Given the description of an element on the screen output the (x, y) to click on. 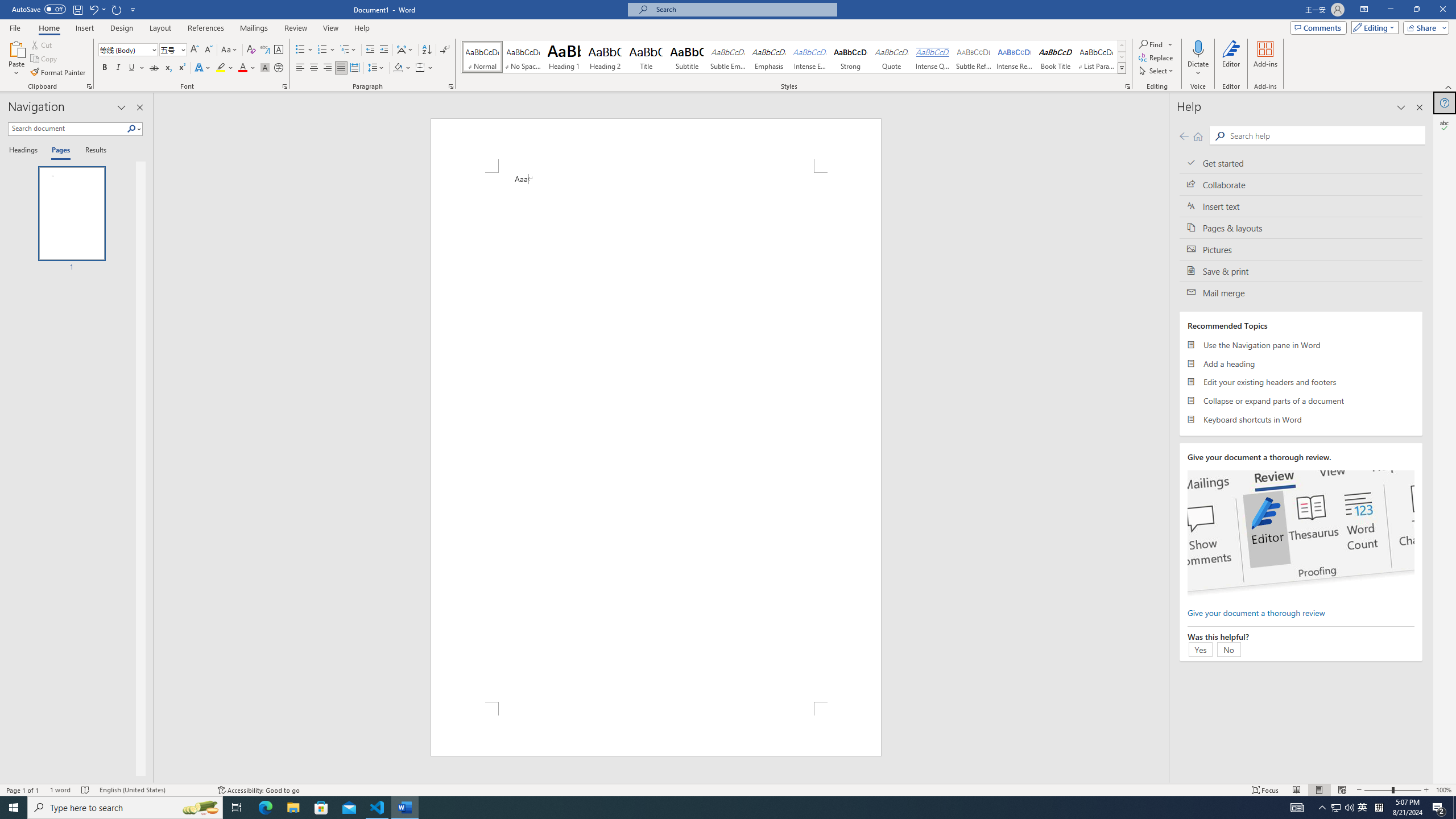
Subtle Emphasis (727, 56)
Add a heading (1300, 363)
Save & print (1300, 270)
